Given the description of an element on the screen output the (x, y) to click on. 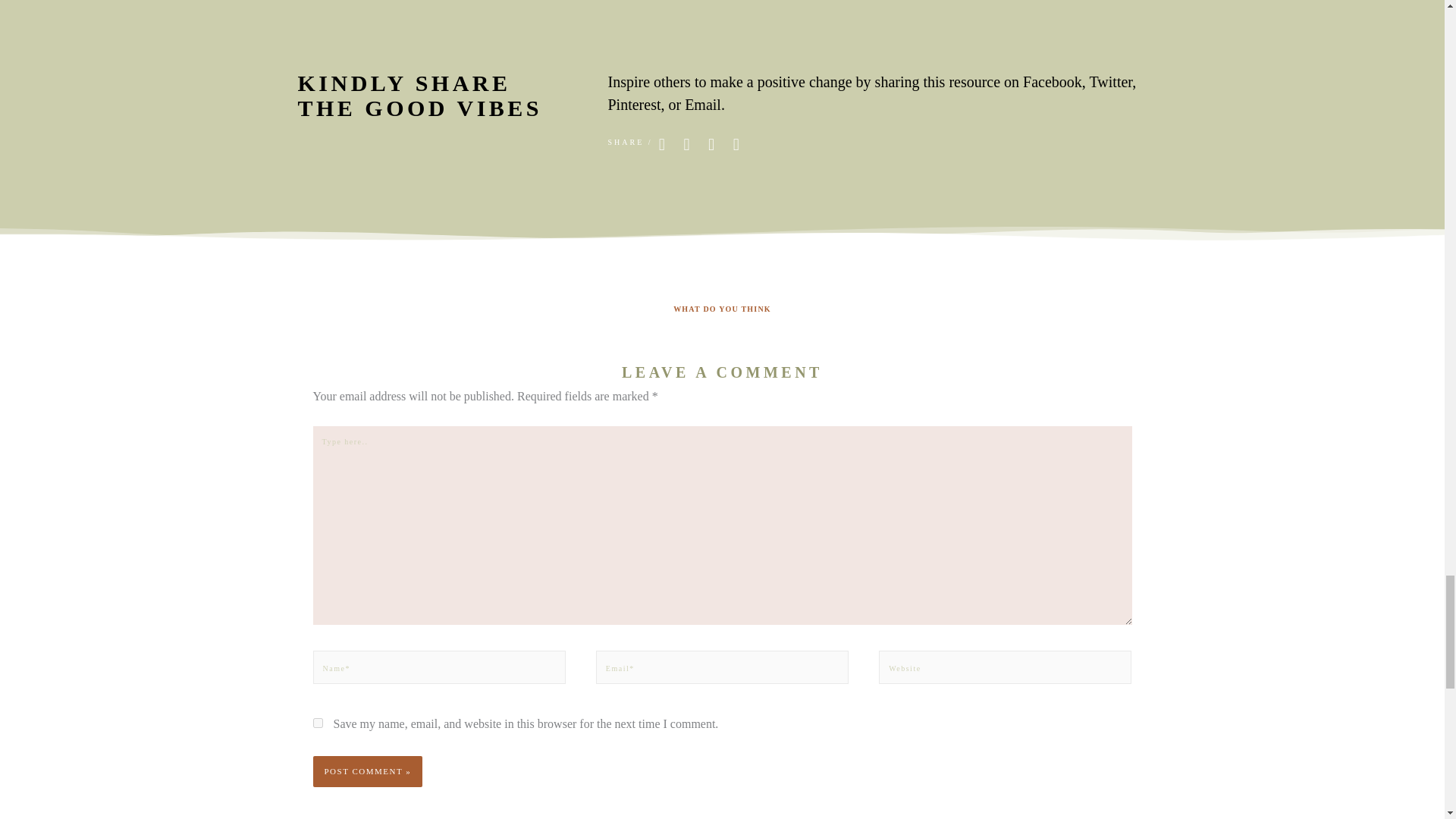
yes (317, 723)
